Given the description of an element on the screen output the (x, y) to click on. 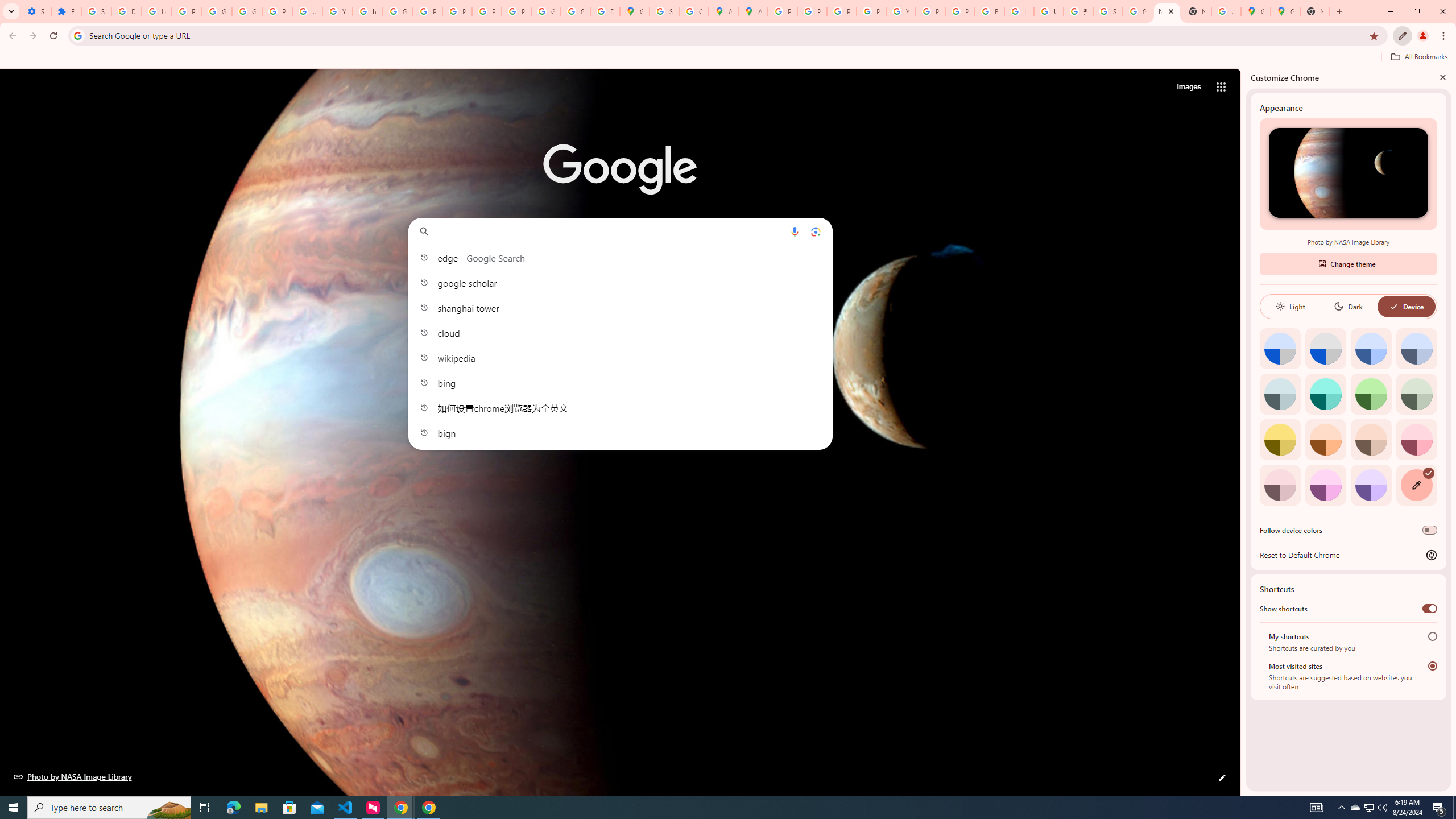
Search icon (77, 35)
Privacy Help Center - Policies Help (841, 11)
Green (1371, 393)
Light (1289, 305)
Pink (1279, 484)
Show shortcuts (1429, 608)
Rose (1416, 439)
Photo by NASA Image Library (72, 776)
